Given the description of an element on the screen output the (x, y) to click on. 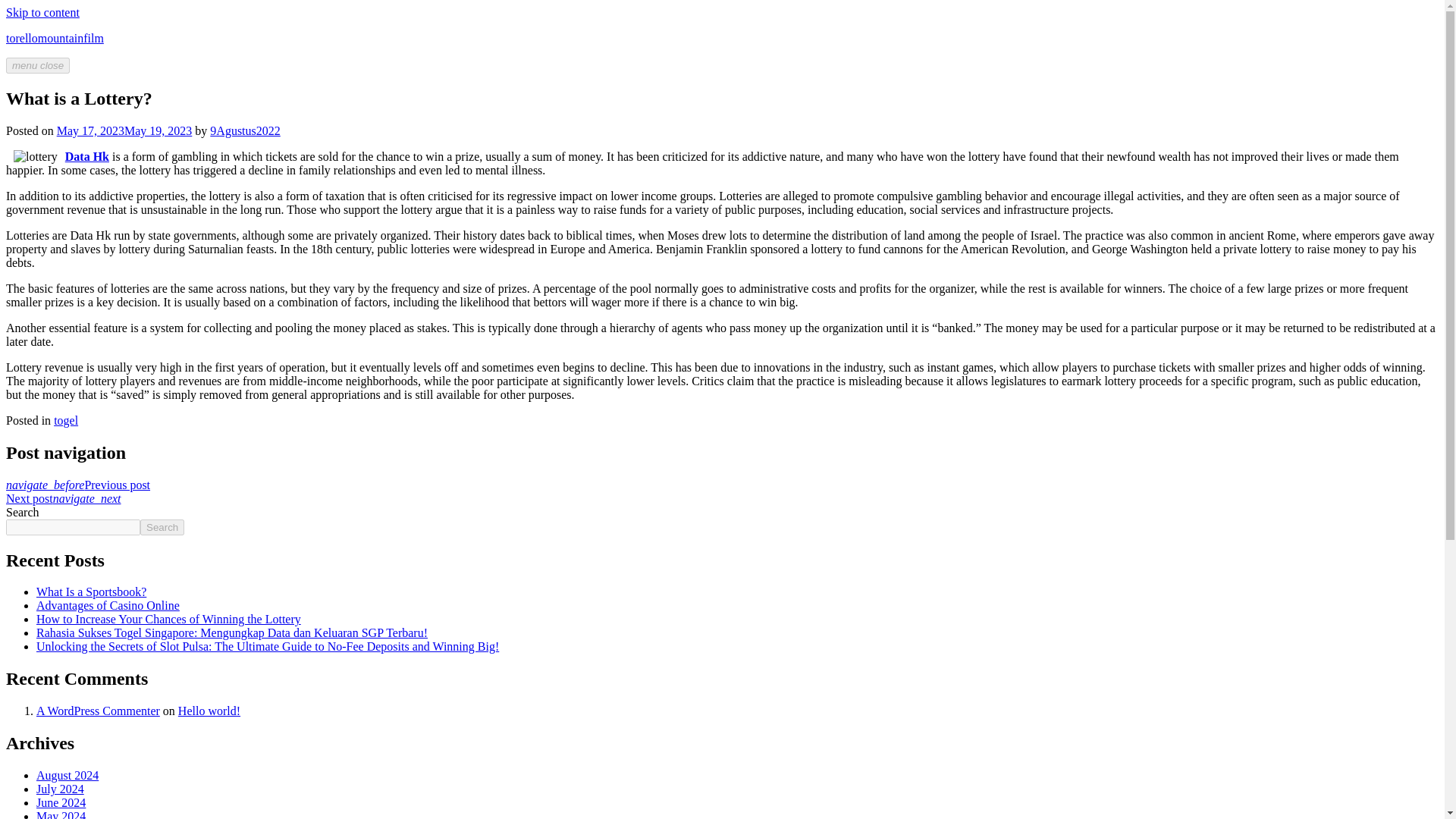
menu close (37, 65)
How to Increase Your Chances of Winning the Lottery (168, 618)
Hello world! (208, 710)
togel (65, 420)
July 2024 (60, 788)
August 2024 (67, 775)
A WordPress Commenter (98, 710)
Skip to content (42, 11)
